Given the description of an element on the screen output the (x, y) to click on. 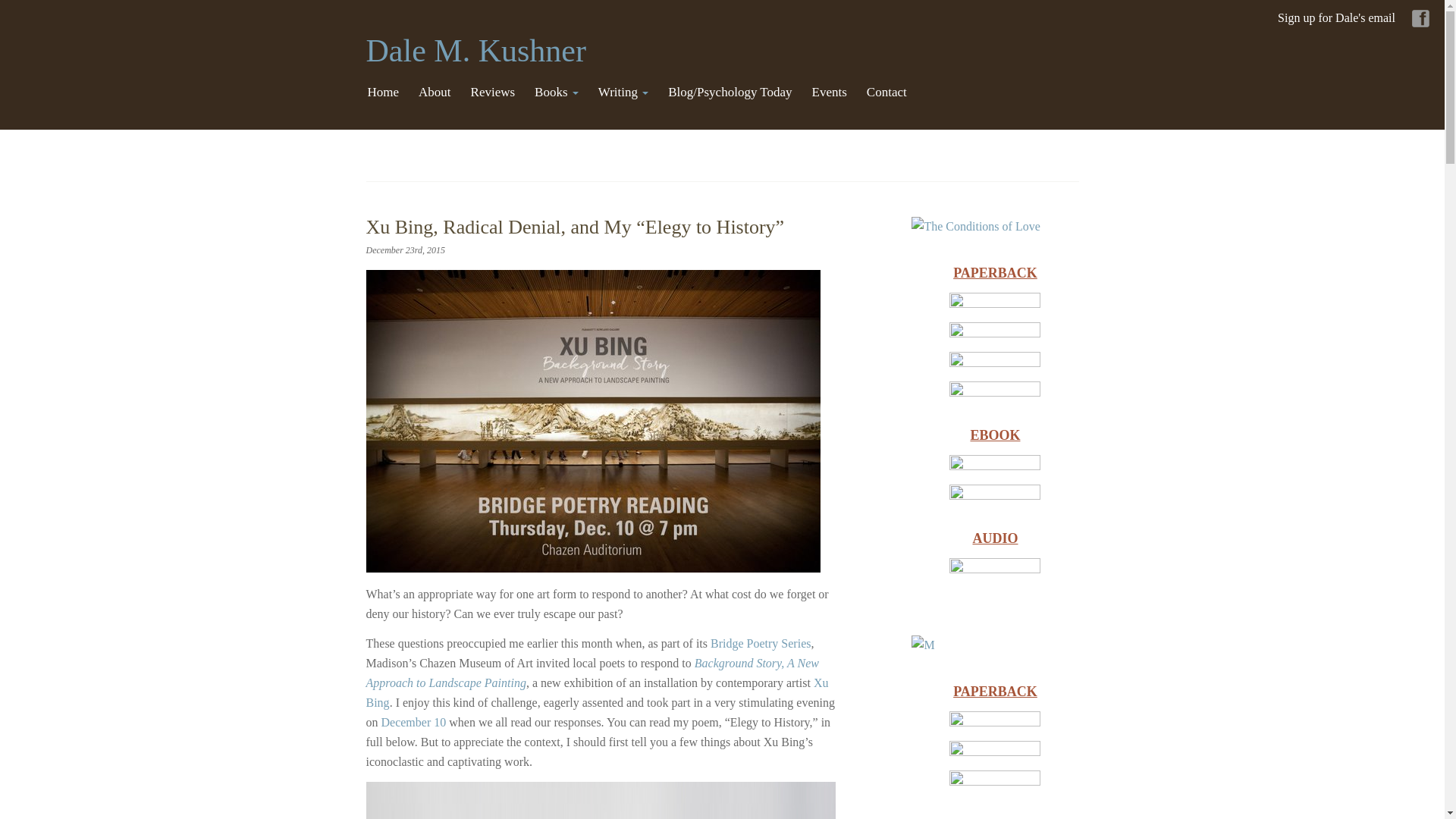
Sign up for Dale's email (1336, 17)
Background Story, A New Approach to Landscape Painting (591, 672)
Dale M. Kushner (475, 50)
Events (829, 92)
Dale M. Kushner (475, 50)
Reviews (492, 92)
About (434, 92)
December 10 (412, 721)
Xu Bing (596, 692)
